Given the description of an element on the screen output the (x, y) to click on. 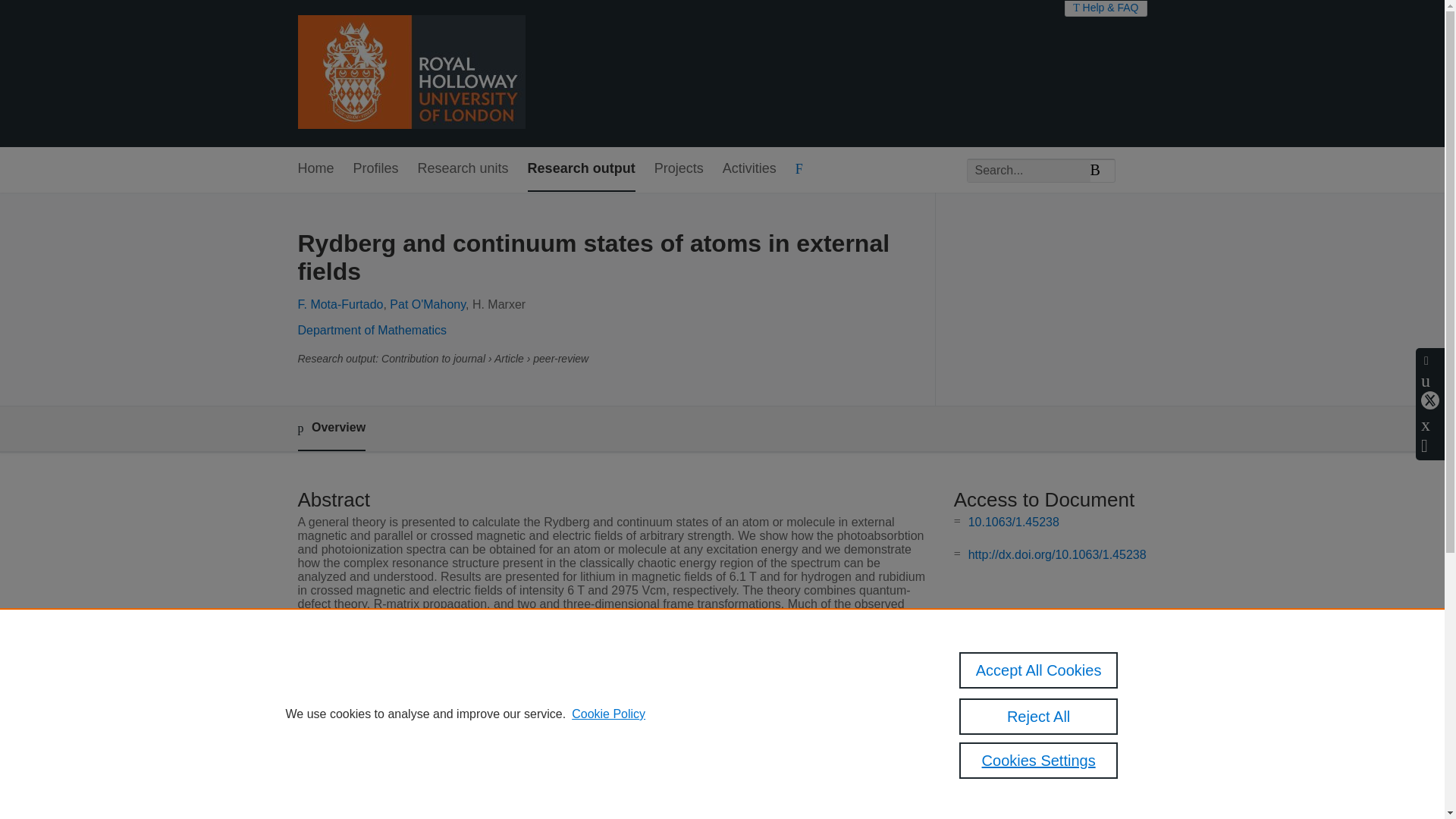
F. Mota-Furtado (339, 304)
Cookie Policy (608, 713)
Department of Mathematics (371, 329)
Royal Holloway Research Portal Home (410, 73)
Pat O'Mahony (427, 304)
AIP Conference Proceedings (587, 690)
Reject All (1038, 716)
Overview (331, 428)
Activities (749, 169)
